Given the description of an element on the screen output the (x, y) to click on. 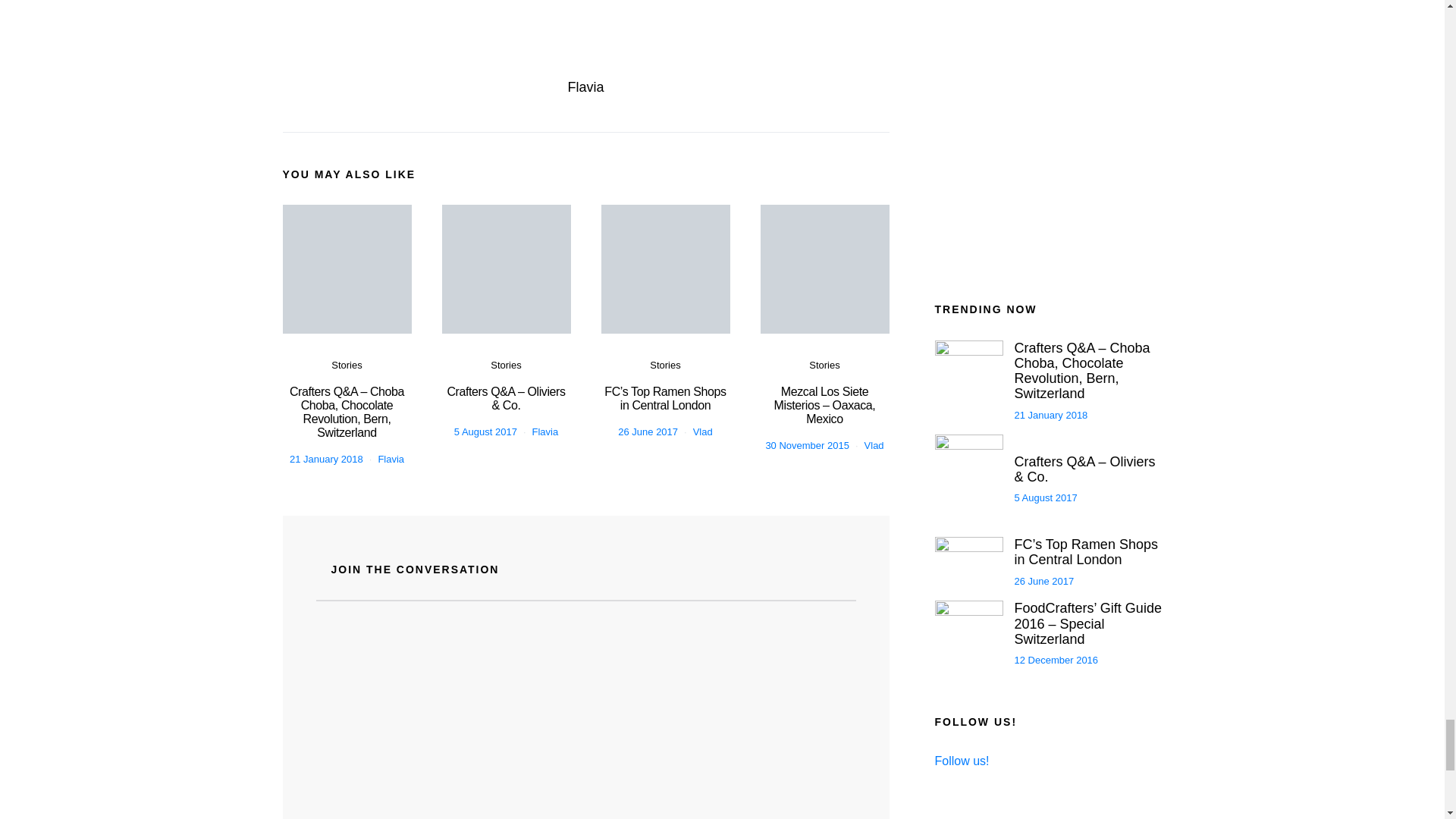
View all posts by Flavia (390, 459)
